Given the description of an element on the screen output the (x, y) to click on. 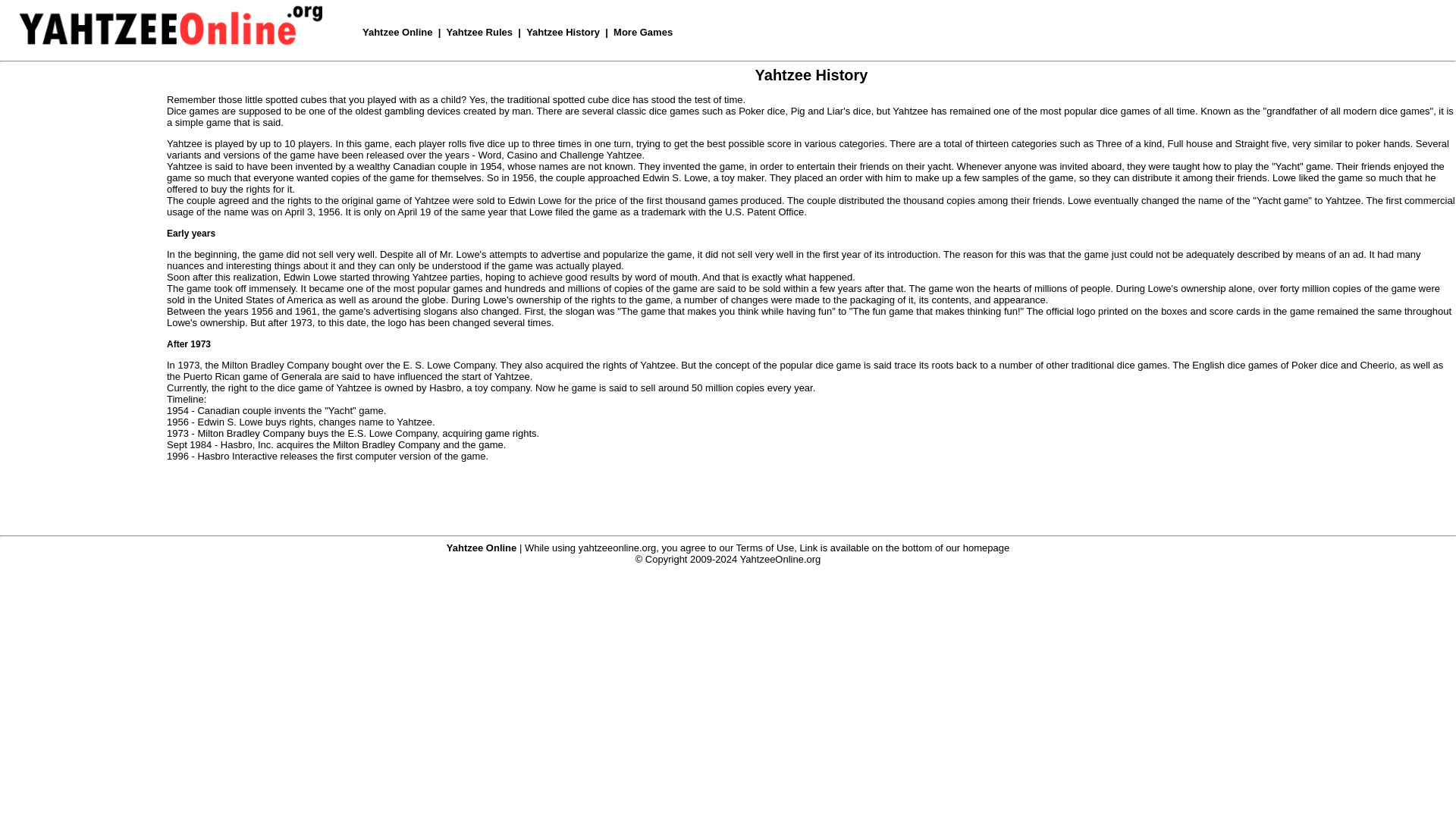
Yahtzee Online (481, 546)
More Games (642, 31)
Yahtzee Rules (479, 31)
Yahtzee Online (397, 31)
Yahtzee History (562, 31)
